Given the description of an element on the screen output the (x, y) to click on. 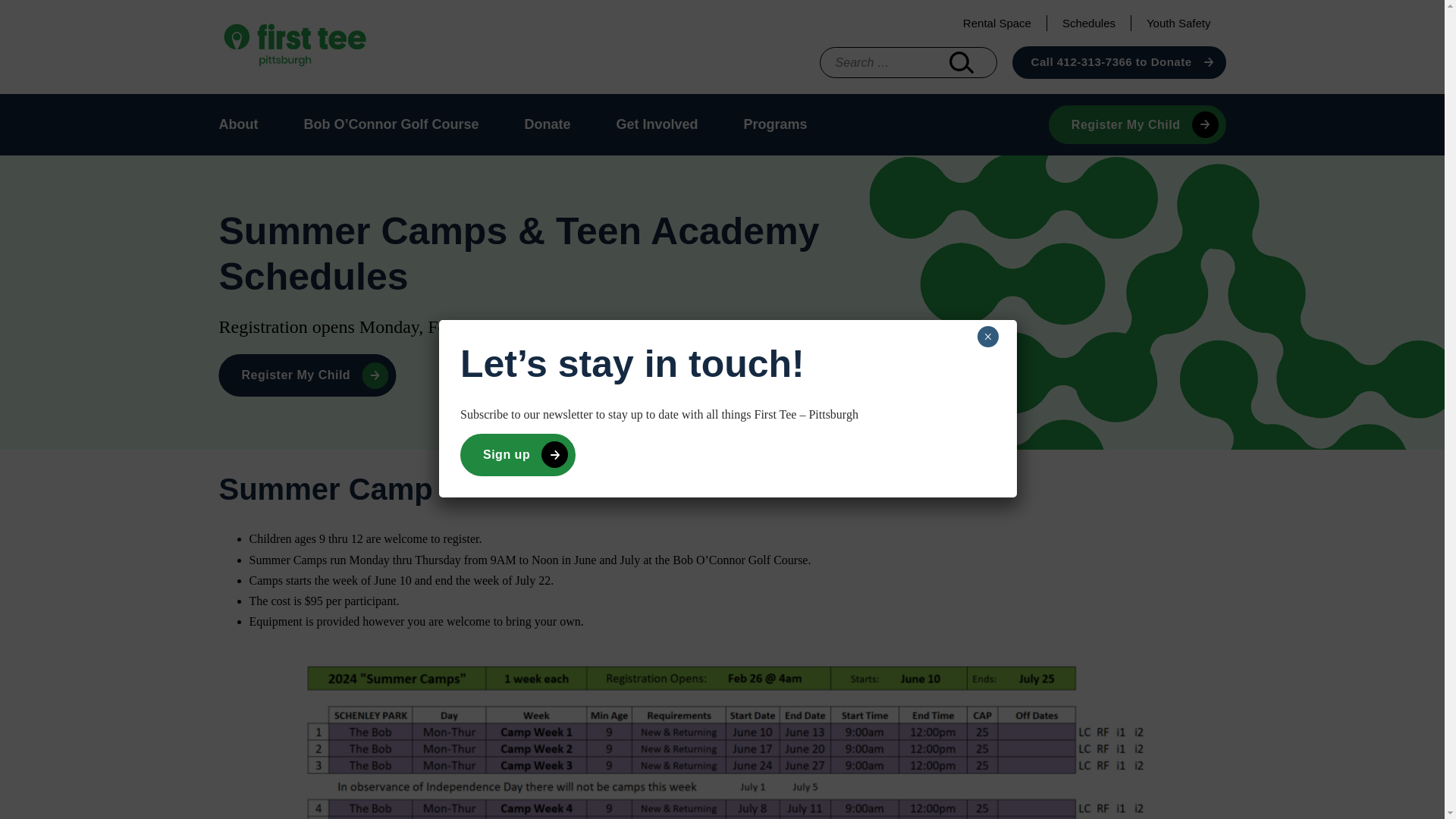
Search (961, 61)
Call 412-313-7366 to Donate (1118, 61)
Search (961, 61)
Rental Space (996, 23)
Search (961, 61)
Youth Safety (1178, 23)
Register My Child (1136, 123)
Register My Child (307, 374)
Schedules (1088, 23)
